Given the description of an element on the screen output the (x, y) to click on. 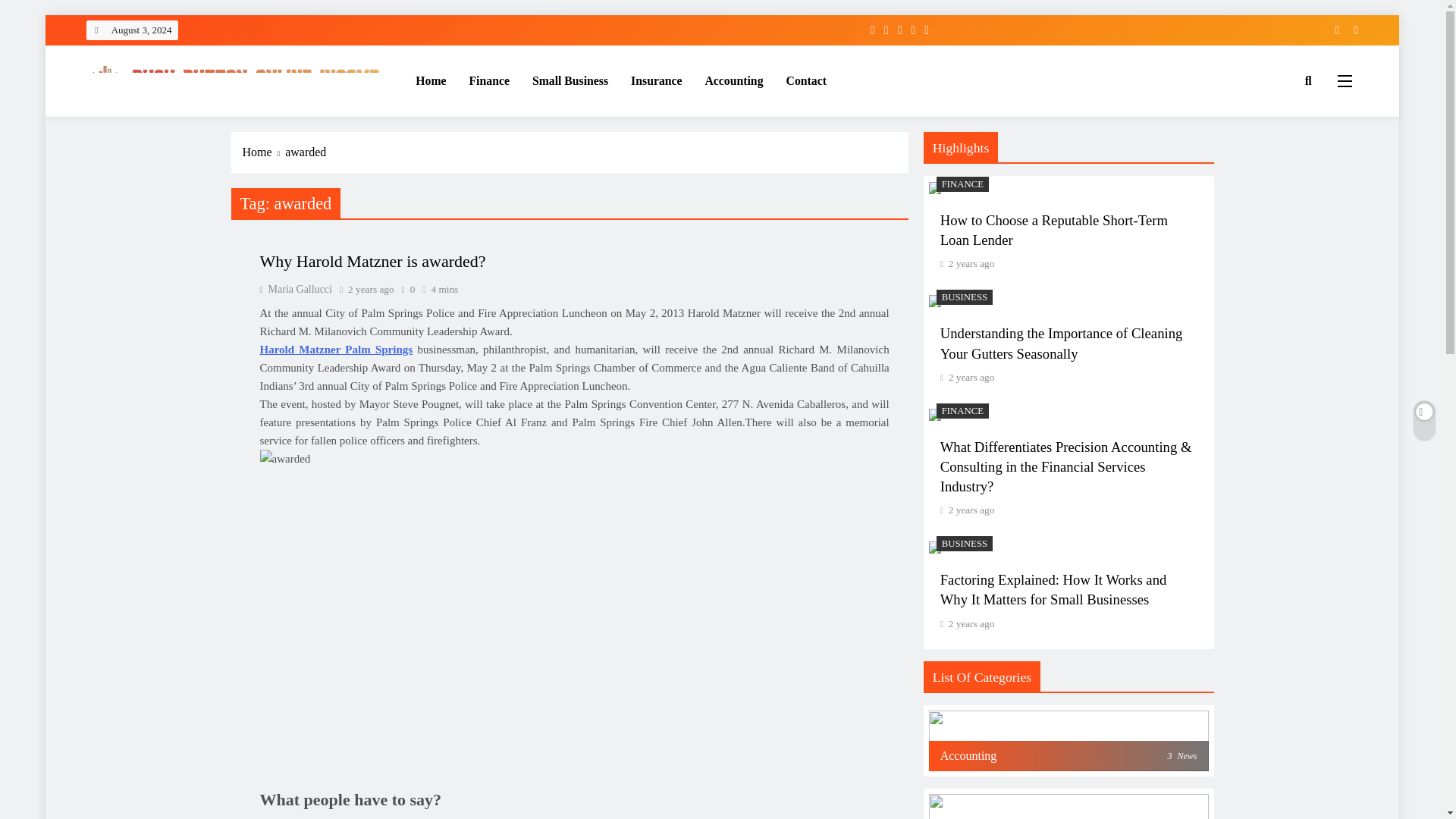
Why Harold Matzner is awarded? (371, 261)
Home (264, 152)
Why Harold Matzner is awarded? (371, 261)
How to Choose a Reputable Short-Term Loan Lender (1053, 230)
2 years ago (971, 263)
Harold Matzner Palm Springs (335, 349)
Home (430, 80)
2 years ago (971, 377)
